Given the description of an element on the screen output the (x, y) to click on. 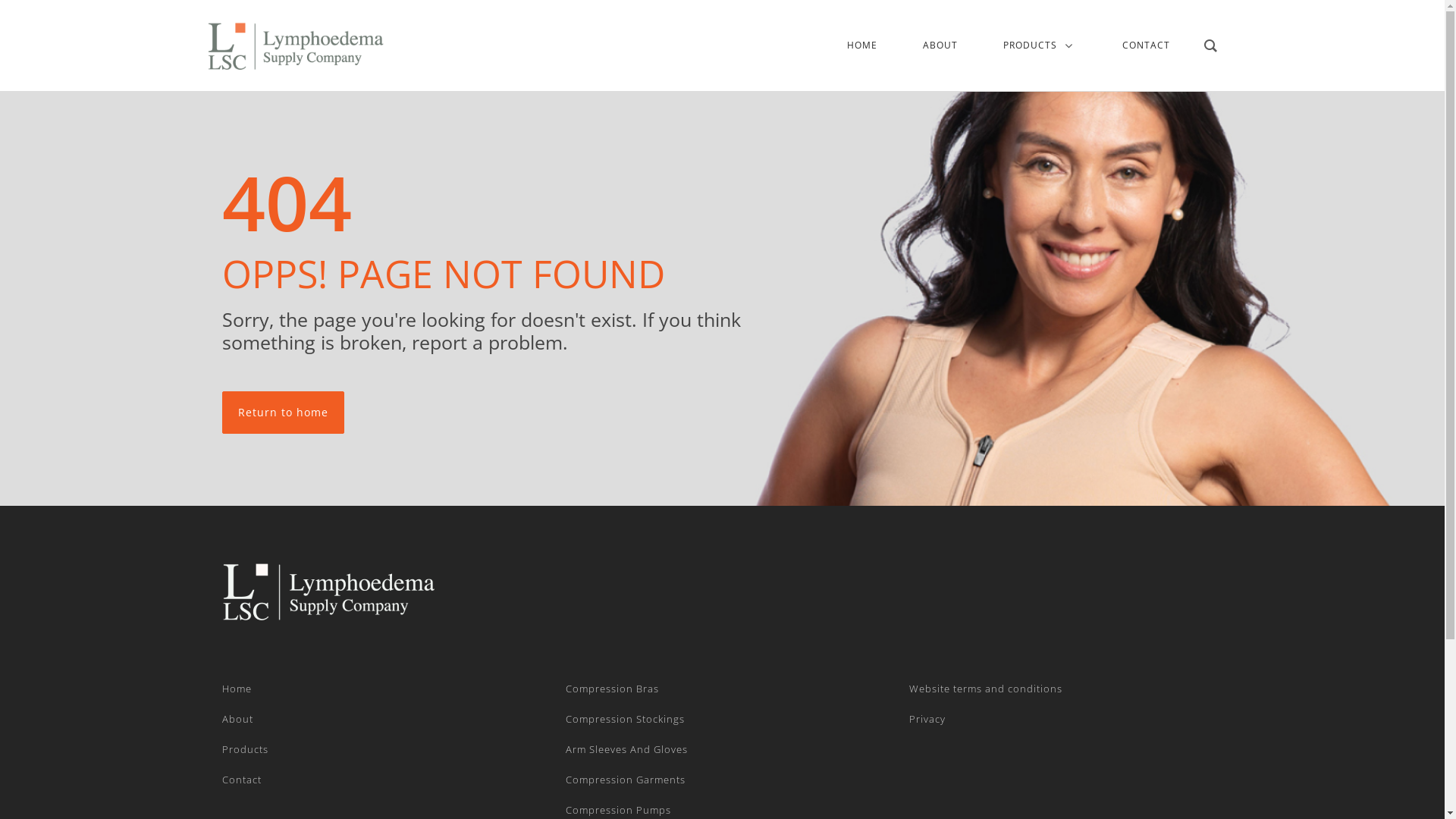
Products Element type: text (244, 748)
HOME Element type: text (862, 45)
PRODUCTS Element type: text (1039, 45)
Compression Garments Element type: text (625, 779)
Privacy Element type: text (927, 718)
Contact Element type: text (240, 779)
ABOUT Element type: text (939, 45)
Arm Sleeves And Gloves Element type: text (626, 748)
Website terms and conditions Element type: text (985, 688)
Home Element type: text (236, 688)
Compression Pumps Element type: text (618, 809)
About Element type: text (236, 718)
Compression Bras Element type: text (611, 688)
CONTACT Element type: text (1146, 45)
Compression Stockings Element type: text (624, 718)
Return to home Element type: text (282, 412)
